Given the description of an element on the screen output the (x, y) to click on. 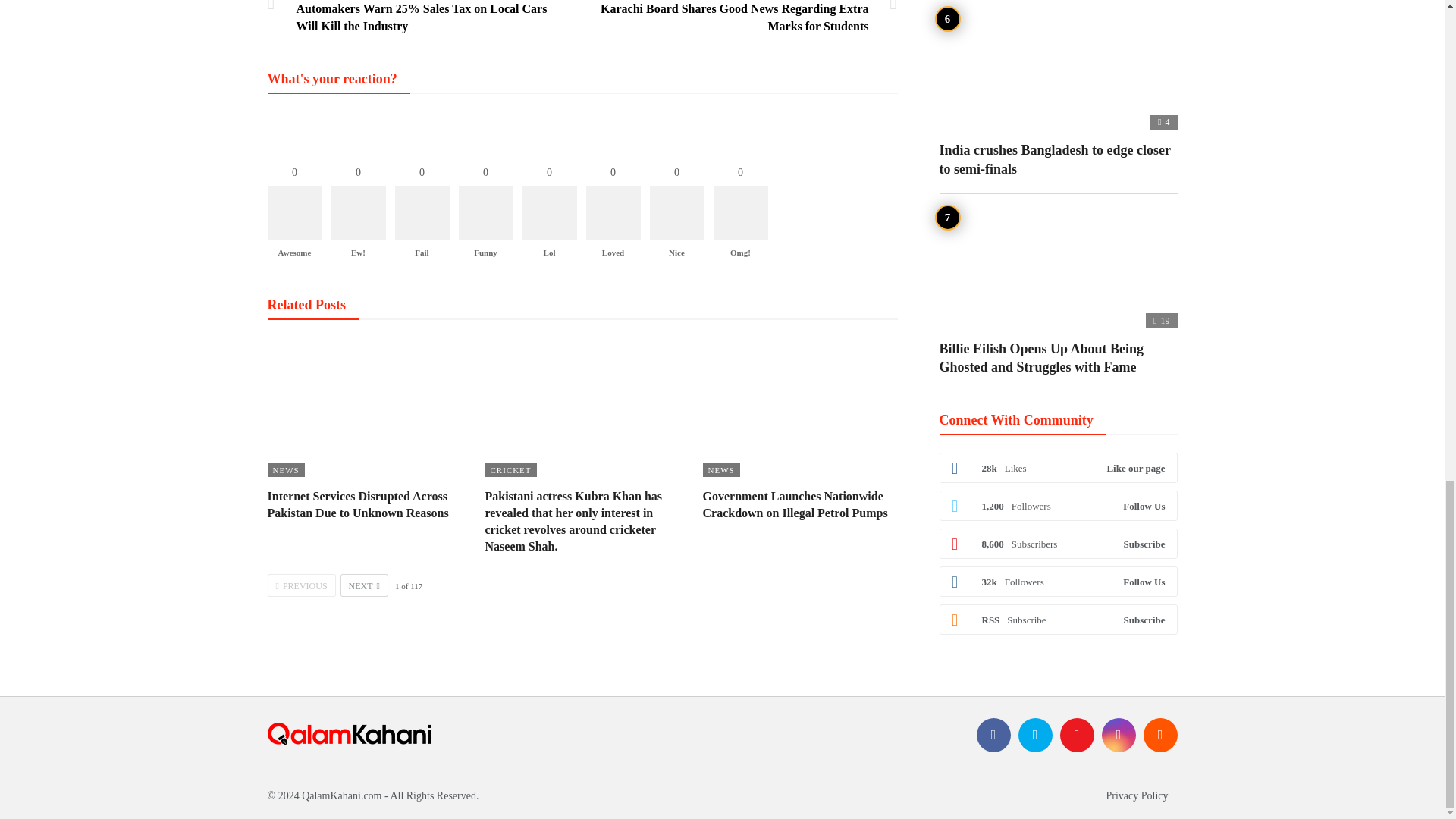
Previous (300, 585)
Next (364, 585)
